Given the description of an element on the screen output the (x, y) to click on. 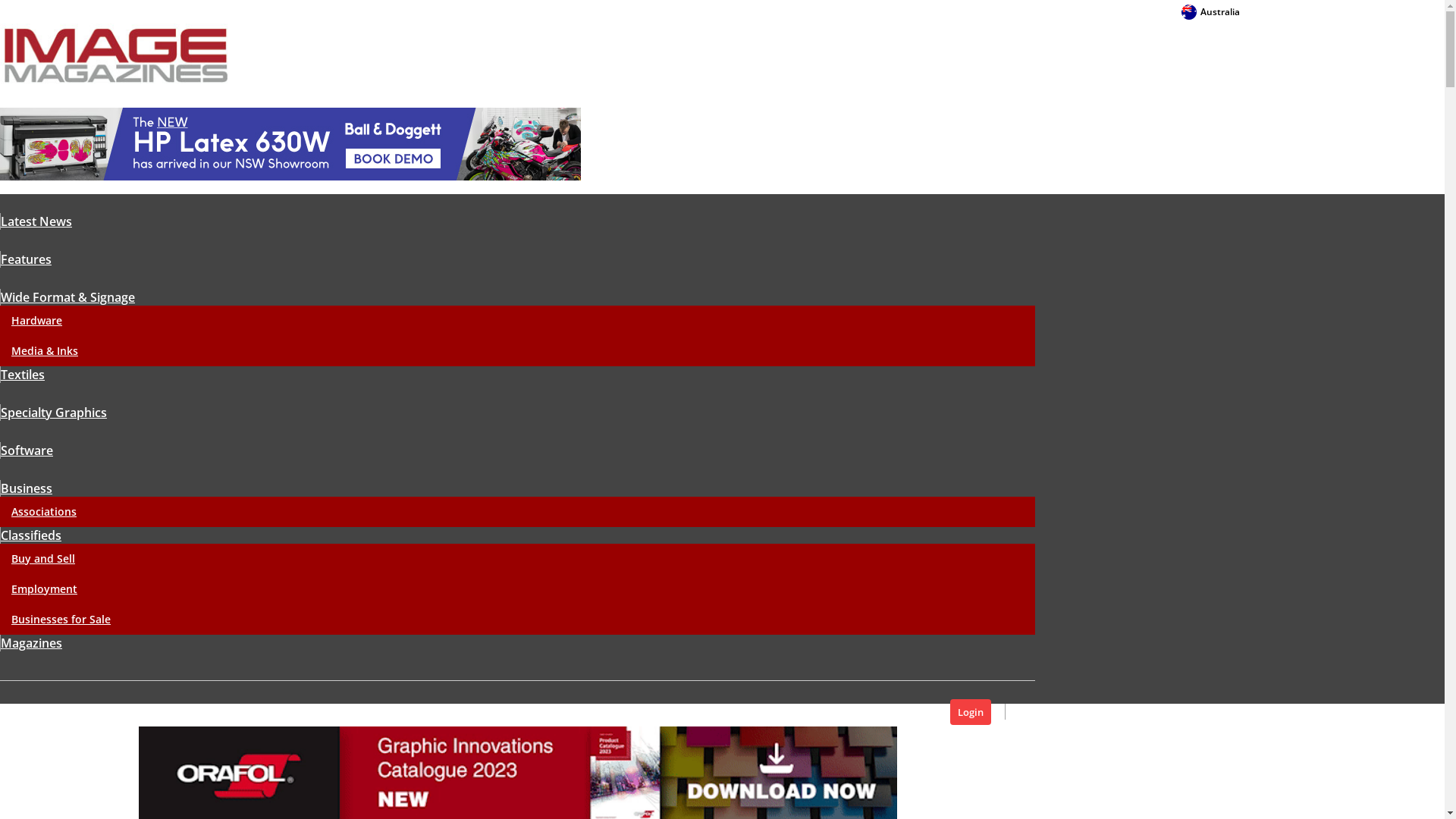
Business Element type: text (26, 488)
Software Element type: text (26, 450)
Buy and Sell Element type: text (43, 558)
Features Element type: text (25, 259)
Image Magazine Element type: hover (116, 54)
Hardware Element type: text (36, 320)
Wide Format & Signage Element type: text (67, 296)
Specialty Graphics Element type: text (53, 412)
Australia Element type: text (1209, 12)
Magazines Element type: text (31, 642)
Media & Inks Element type: text (44, 350)
Login Element type: text (970, 711)
Textiles Element type: text (22, 374)
Latest News Element type: text (36, 221)
Employment Element type: text (44, 588)
Classifieds Element type: text (30, 535)
Associations Element type: text (43, 511)
Businesses for Sale Element type: text (61, 618)
